Given the description of an element on the screen output the (x, y) to click on. 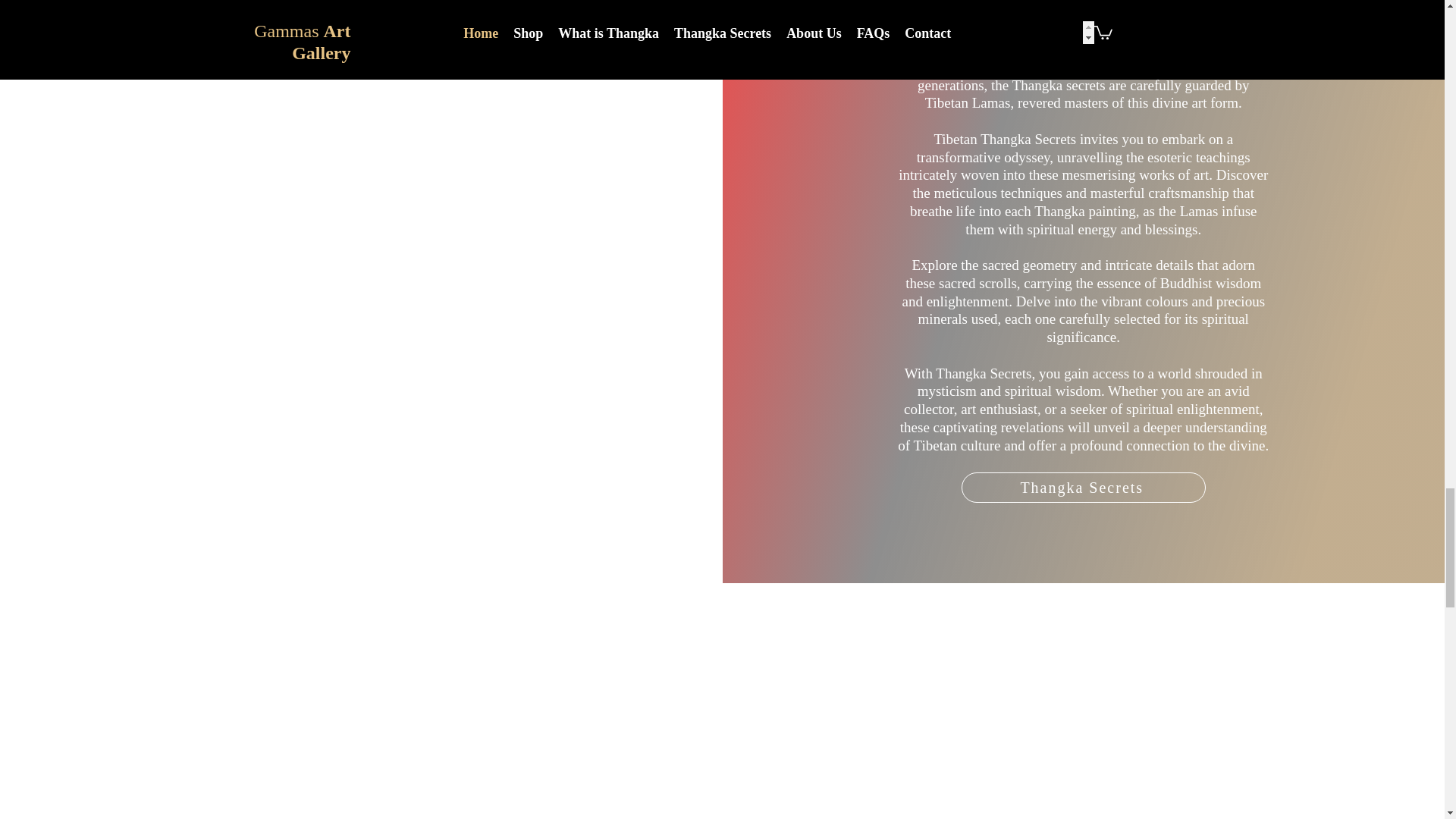
Thangka Secrets (1082, 487)
